Given the description of an element on the screen output the (x, y) to click on. 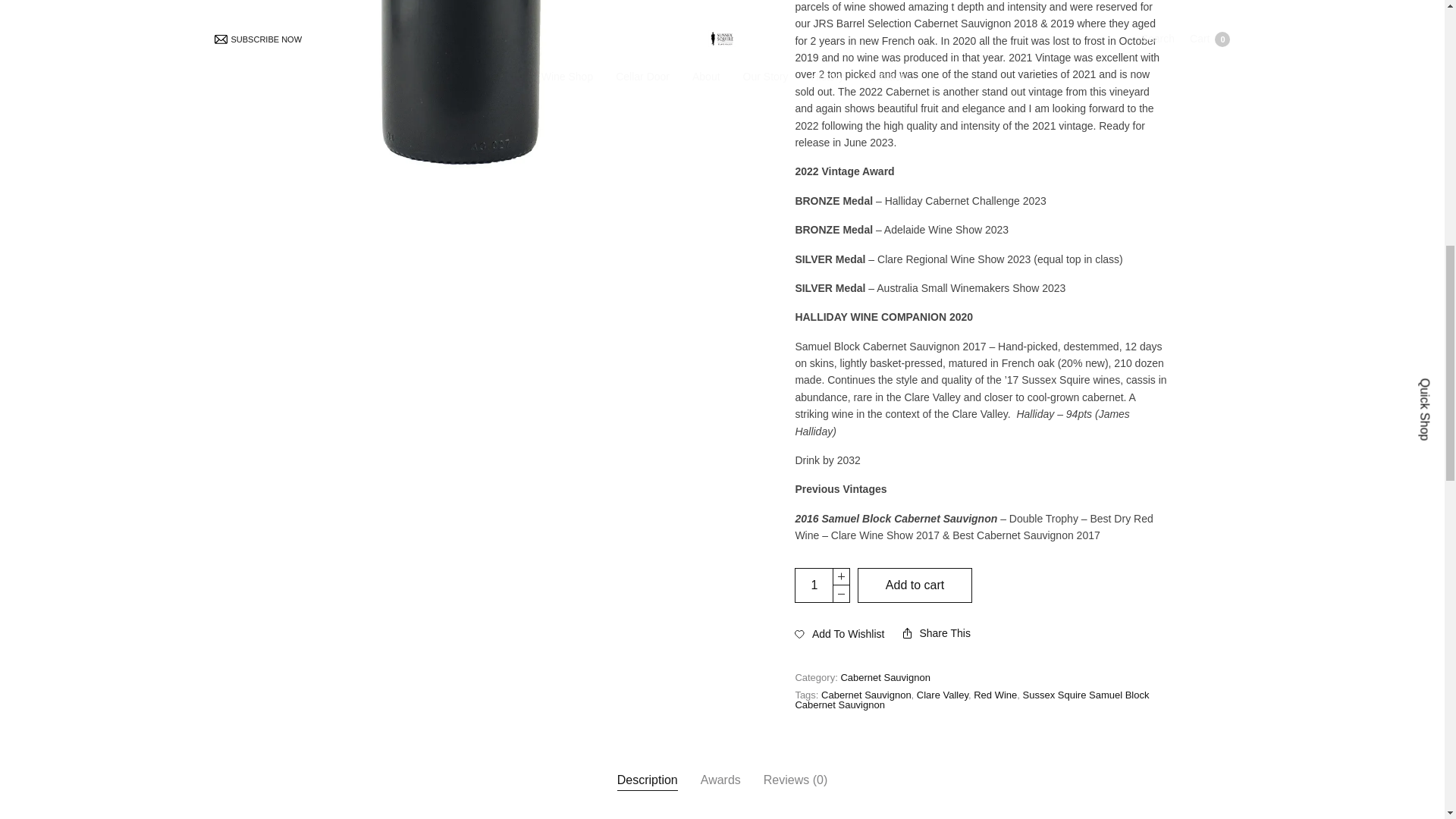
Cabernet Sauvignon (885, 677)
Add To Wishlist (838, 634)
Cabernet Sauvignon (866, 695)
Description (647, 780)
Sussex Squire Samuel Block Cabernet Sauvignon (971, 699)
Add to cart (914, 585)
samuel-block NV (462, 84)
Share This (935, 633)
Clare Valley (942, 695)
Red Wine (995, 695)
Awards (720, 780)
1 (813, 585)
